Given the description of an element on the screen output the (x, y) to click on. 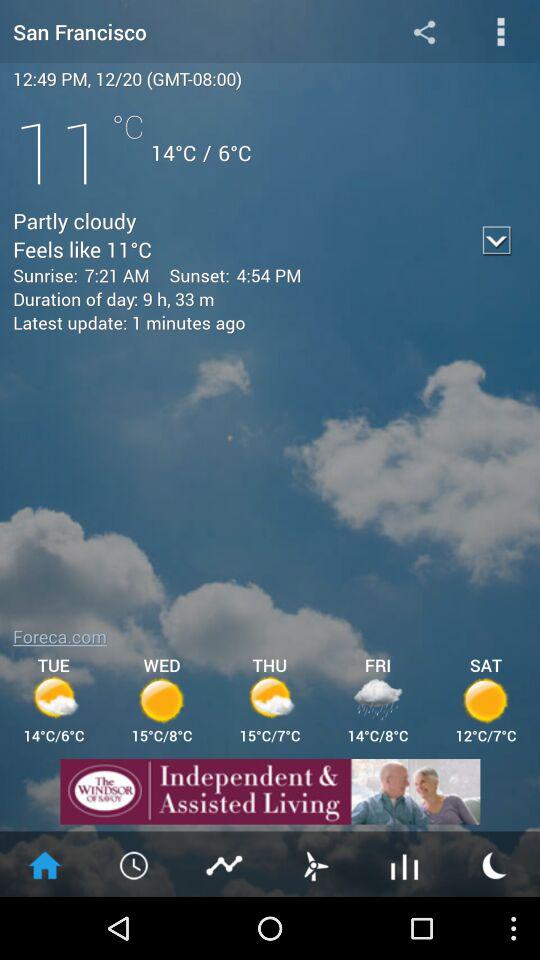
change pages (315, 864)
